Given the description of an element on the screen output the (x, y) to click on. 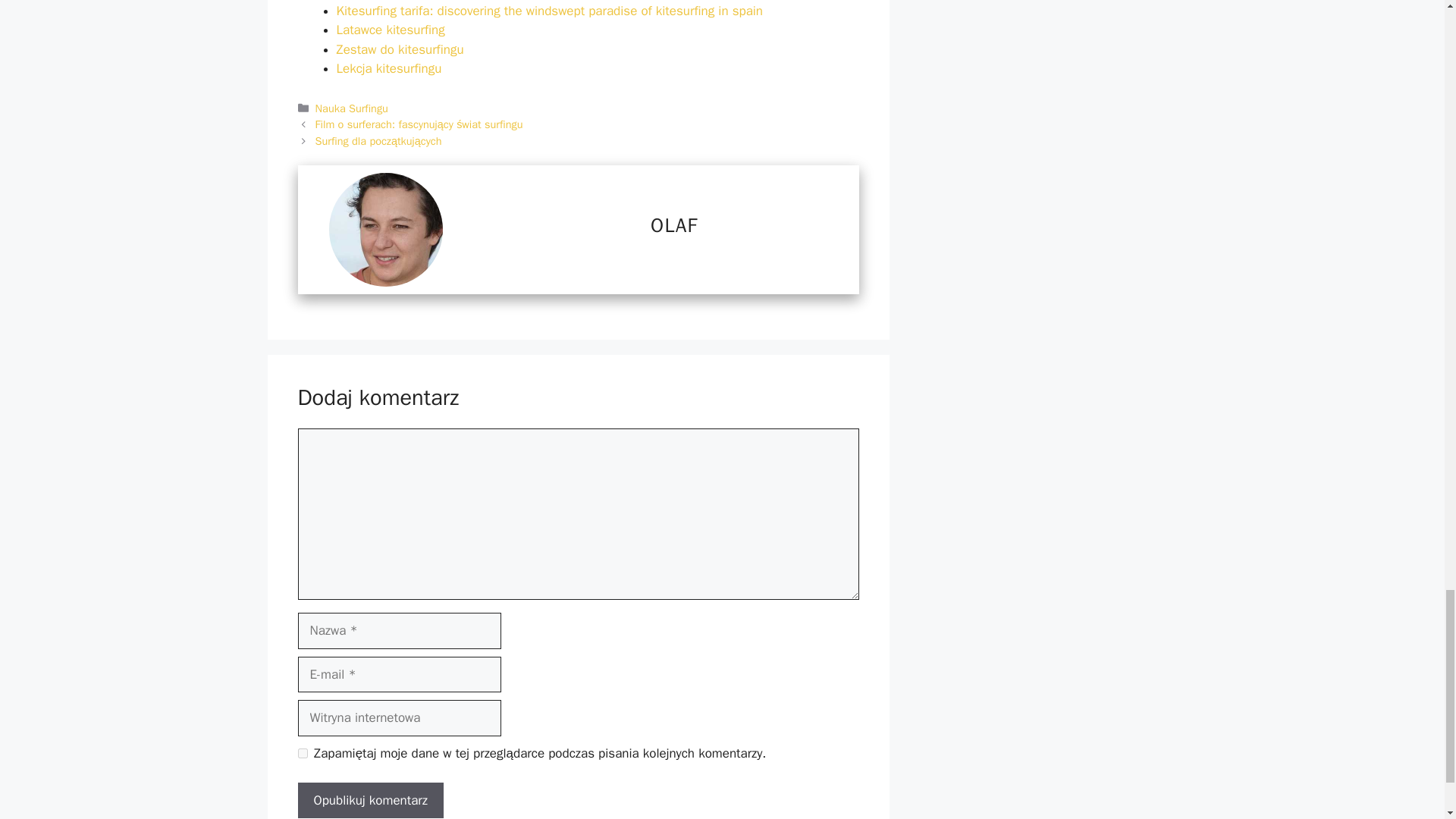
Nauka Surfingu (351, 108)
Latawce kitesurfing (390, 29)
Zestaw do kitesurfingu (400, 49)
Lekcja kitesurfingu (389, 68)
Opublikuj komentarz (369, 800)
Latawce kitesurfing (390, 29)
yes (302, 753)
Lekcja kitesurfingu (389, 68)
Zestaw do kitesurfingu (400, 49)
Opublikuj komentarz (369, 800)
